Given the description of an element on the screen output the (x, y) to click on. 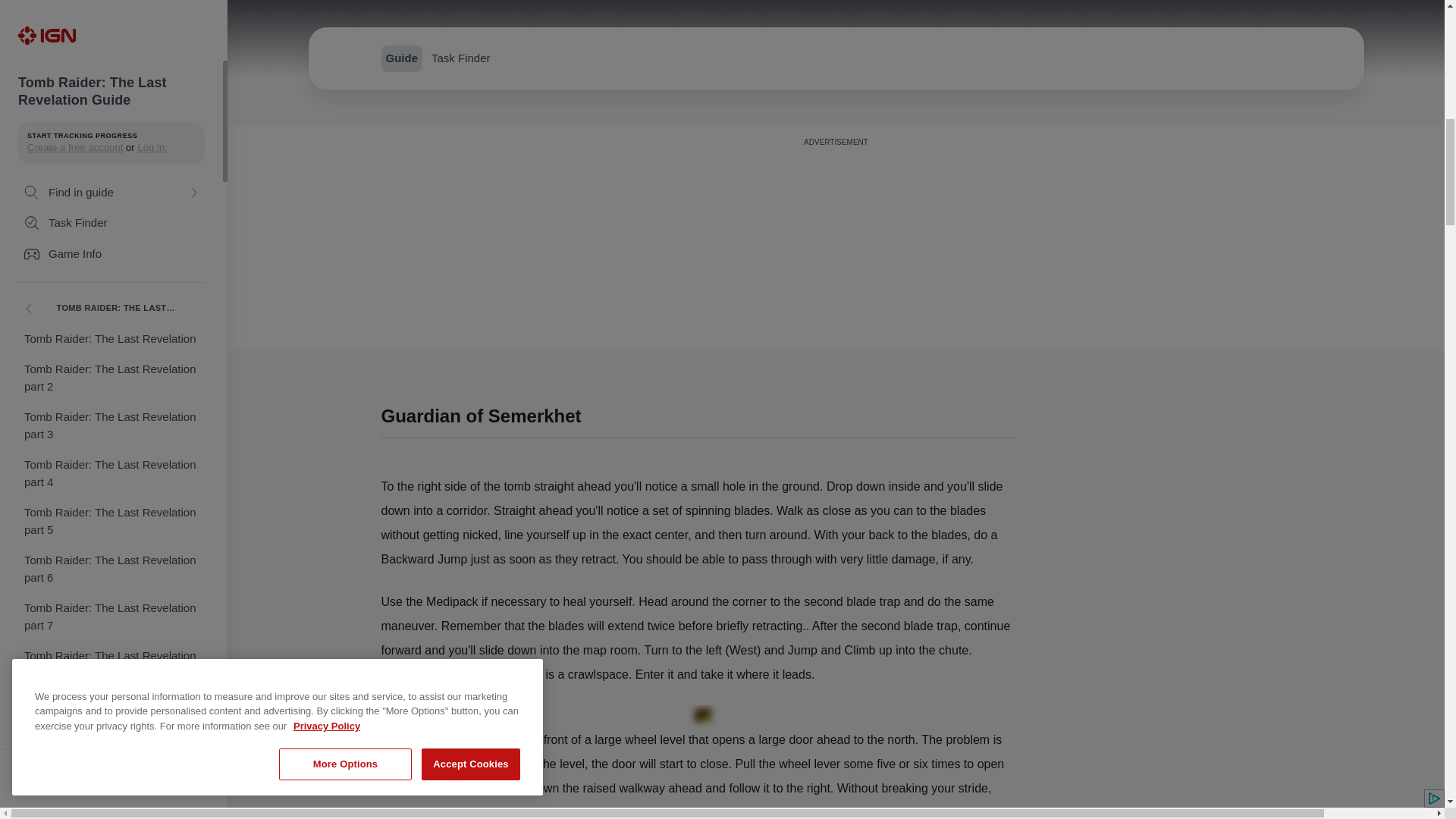
Tomb Raider: The Last Revelation part 15 (111, 180)
Tomb Raider: The Last Revelation part 14 (111, 131)
Tomb Raider: The Last Revelation part 23 (111, 561)
Tomb Raider: The Last Revelation part 20 (111, 418)
Tomb Raider: The Last Revelation part 12 (111, 36)
Tomb Raider: The Last Revelation part 13 (111, 84)
Tomb Raider: The Last Revelation part 28 (111, 798)
Tomb Raider: The Last Revelation part 12 (111, 36)
Tomb Raider: The Last Revelation part 24 (111, 610)
Tomb Raider: The Last Revelation part 11 (111, 6)
Tomb Raider: The Last Revelation part 17 (111, 275)
Tomb Raider: The Last Revelation part 26 (111, 705)
Tomb Raider: The Last Revelation part 16 (111, 227)
Tomb Raider: The Last Revelation part 18 (111, 323)
Tomb Raider: The Last Revelation part 21 (111, 466)
